Given the description of an element on the screen output the (x, y) to click on. 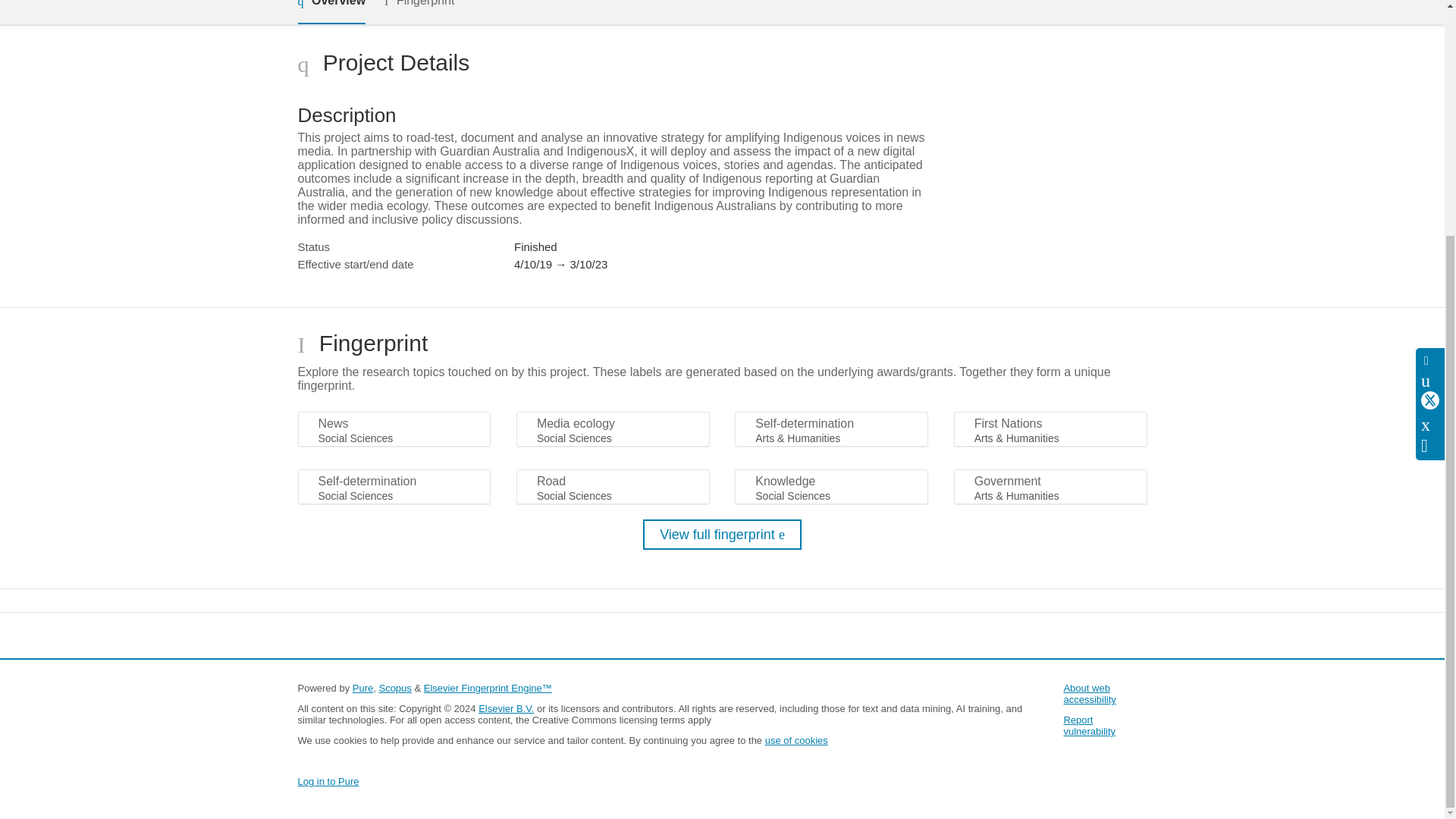
Pure (362, 687)
Scopus (394, 687)
Overview (331, 12)
Fingerprint (419, 11)
View full fingerprint (722, 534)
Elsevier B.V. (506, 708)
